Given the description of an element on the screen output the (x, y) to click on. 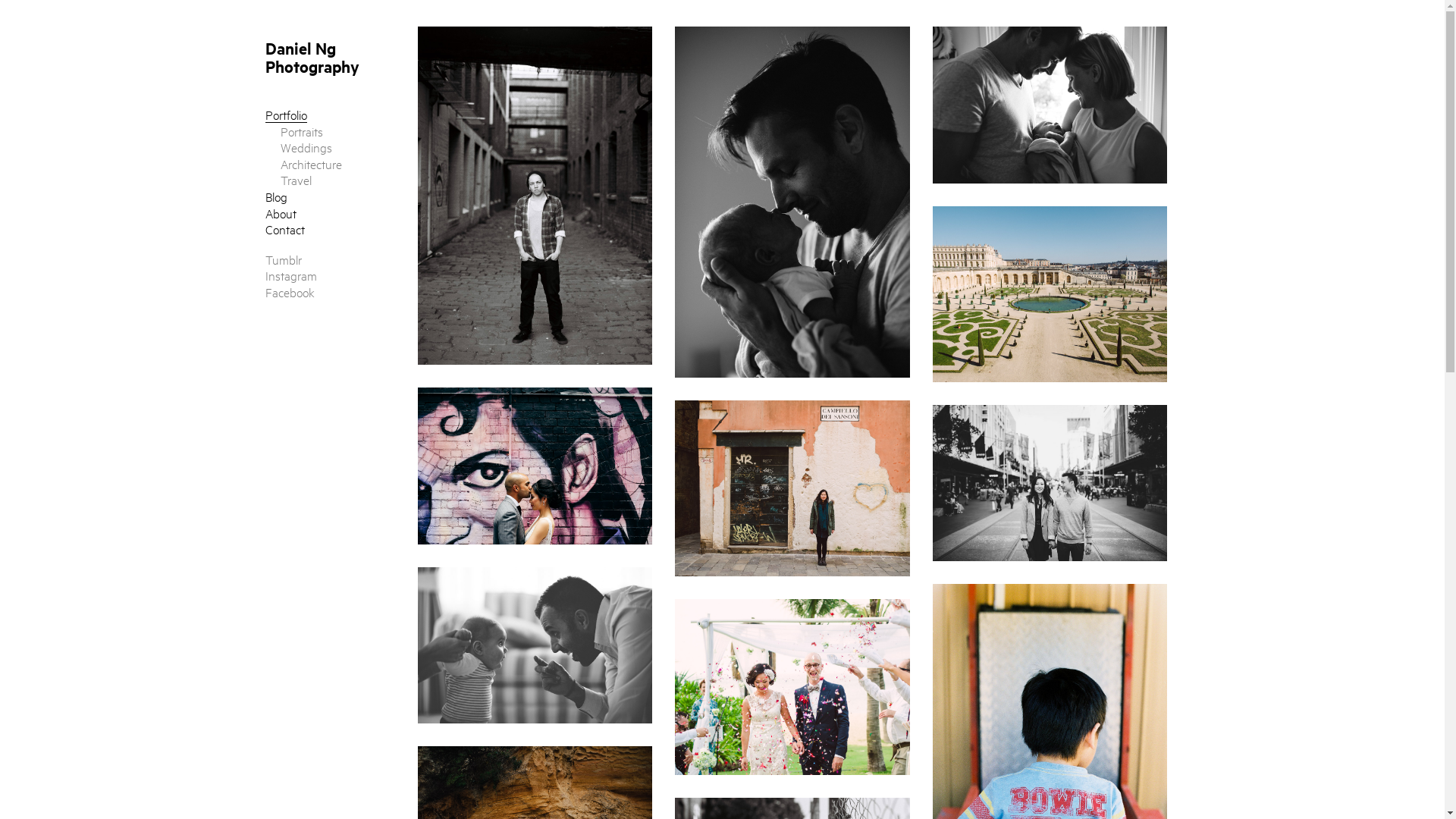
Instagram Element type: text (290, 274)
Tumblr Element type: text (283, 258)
Travel Element type: text (295, 179)
Contact Element type: text (284, 228)
Daniel Ng Photography Element type: text (312, 56)
Portfolio Element type: text (286, 114)
Blog Element type: text (276, 195)
Portraits Element type: text (301, 130)
Architecture Element type: text (311, 163)
Facebook Element type: text (289, 291)
Weddings Element type: text (306, 146)
About Element type: text (280, 212)
